Given the description of an element on the screen output the (x, y) to click on. 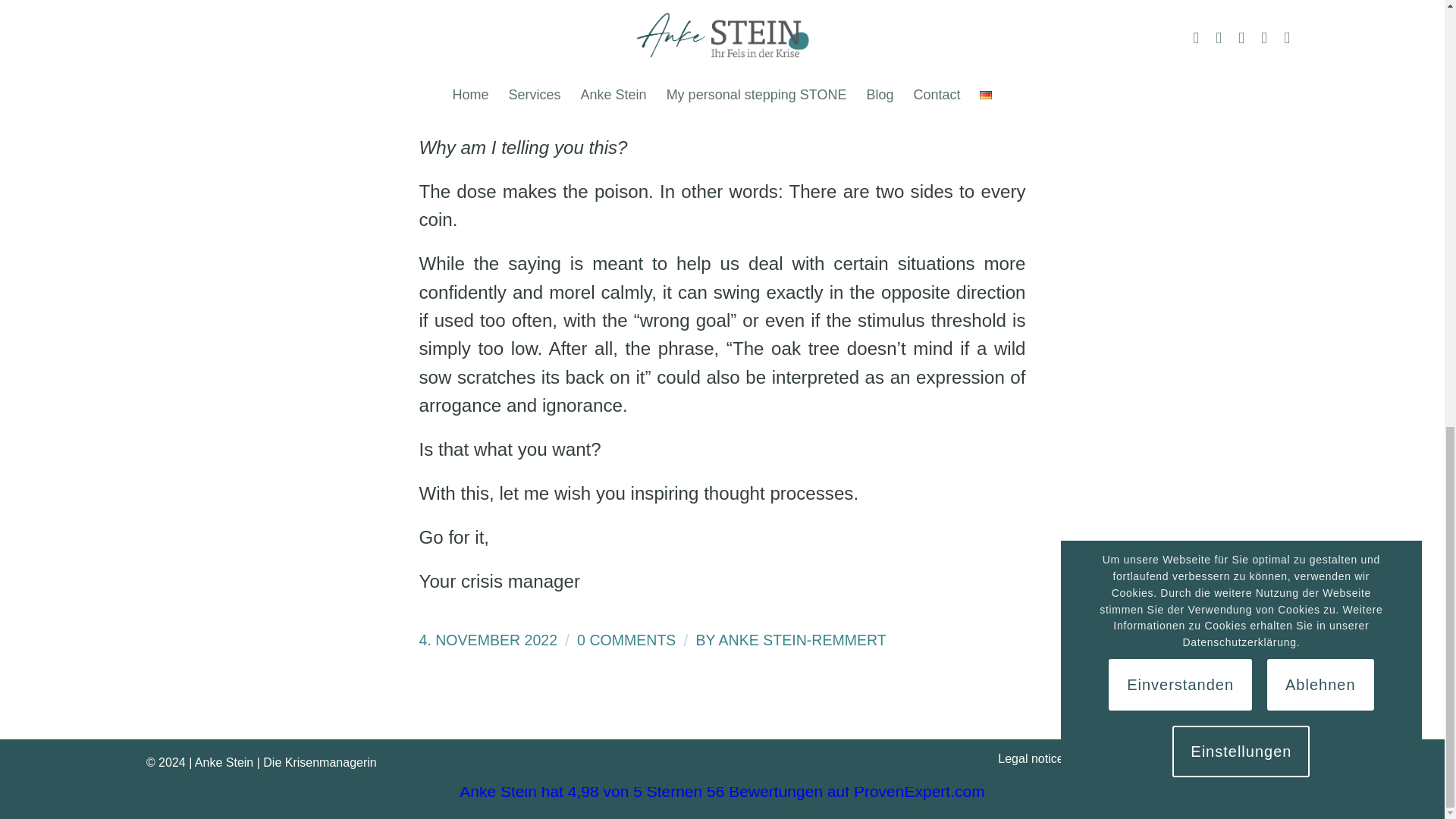
Legal notice (1029, 758)
ANKE STEIN-REMMERT (802, 639)
Data protection (1120, 758)
0 COMMENTS (625, 639)
Posts by Anke Stein-Remmert (802, 639)
